Given the description of an element on the screen output the (x, y) to click on. 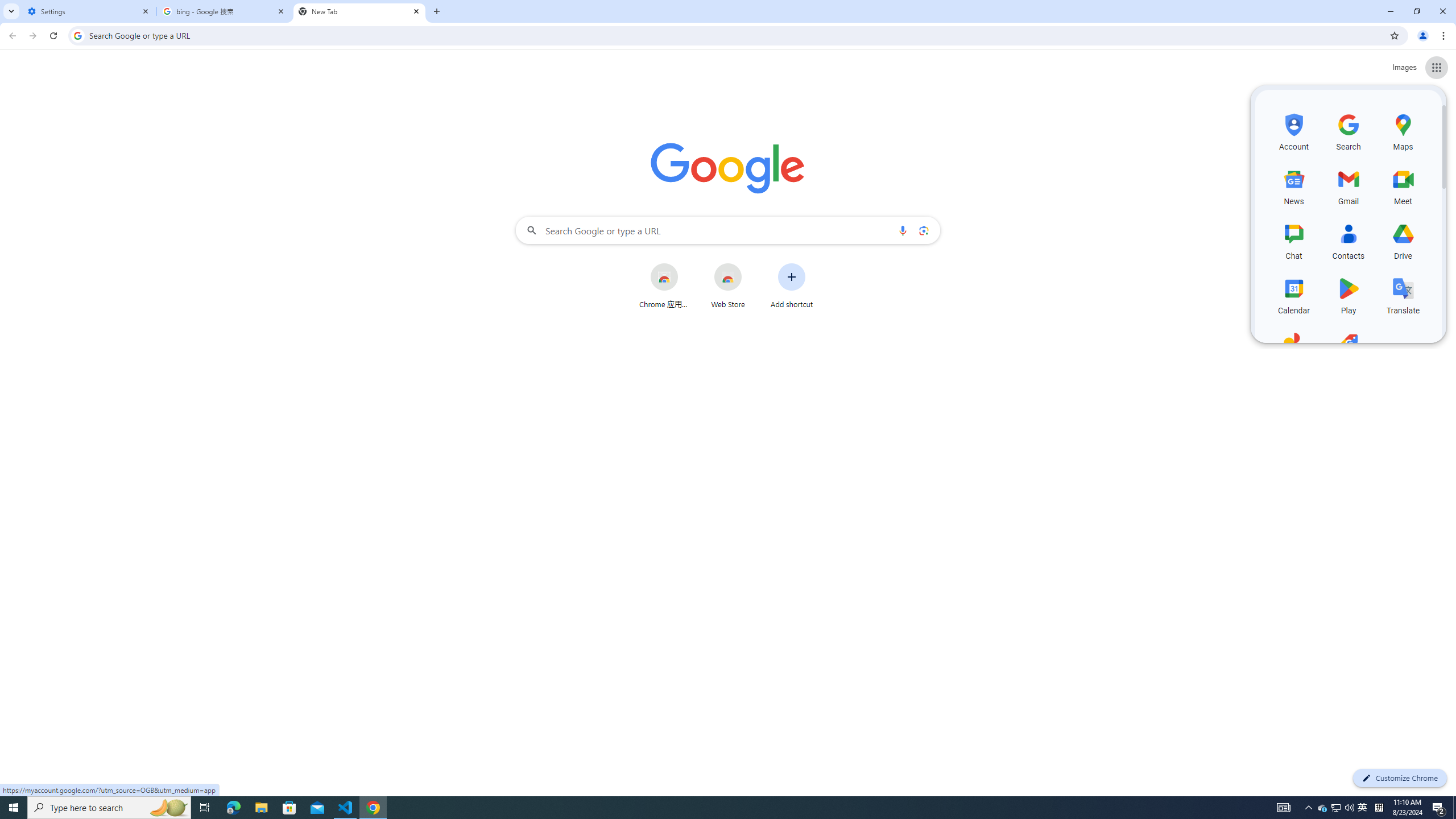
News, row 2 of 5 and column 1 of 3 in the first section (1293, 185)
Search by image (922, 230)
Account, row 1 of 5 and column 1 of 3 in the first section (1293, 130)
Calendar, row 4 of 5 and column 1 of 3 in the first section (1293, 294)
Photos, row 5 of 5 and column 1 of 3 in the first section (1293, 349)
Search for Images  (1403, 67)
Meet, row 2 of 5 and column 3 of 3 in the first section (1402, 185)
Translate, row 4 of 5 and column 3 of 3 in the first section (1402, 294)
Web Store (727, 285)
